Given the description of an element on the screen output the (x, y) to click on. 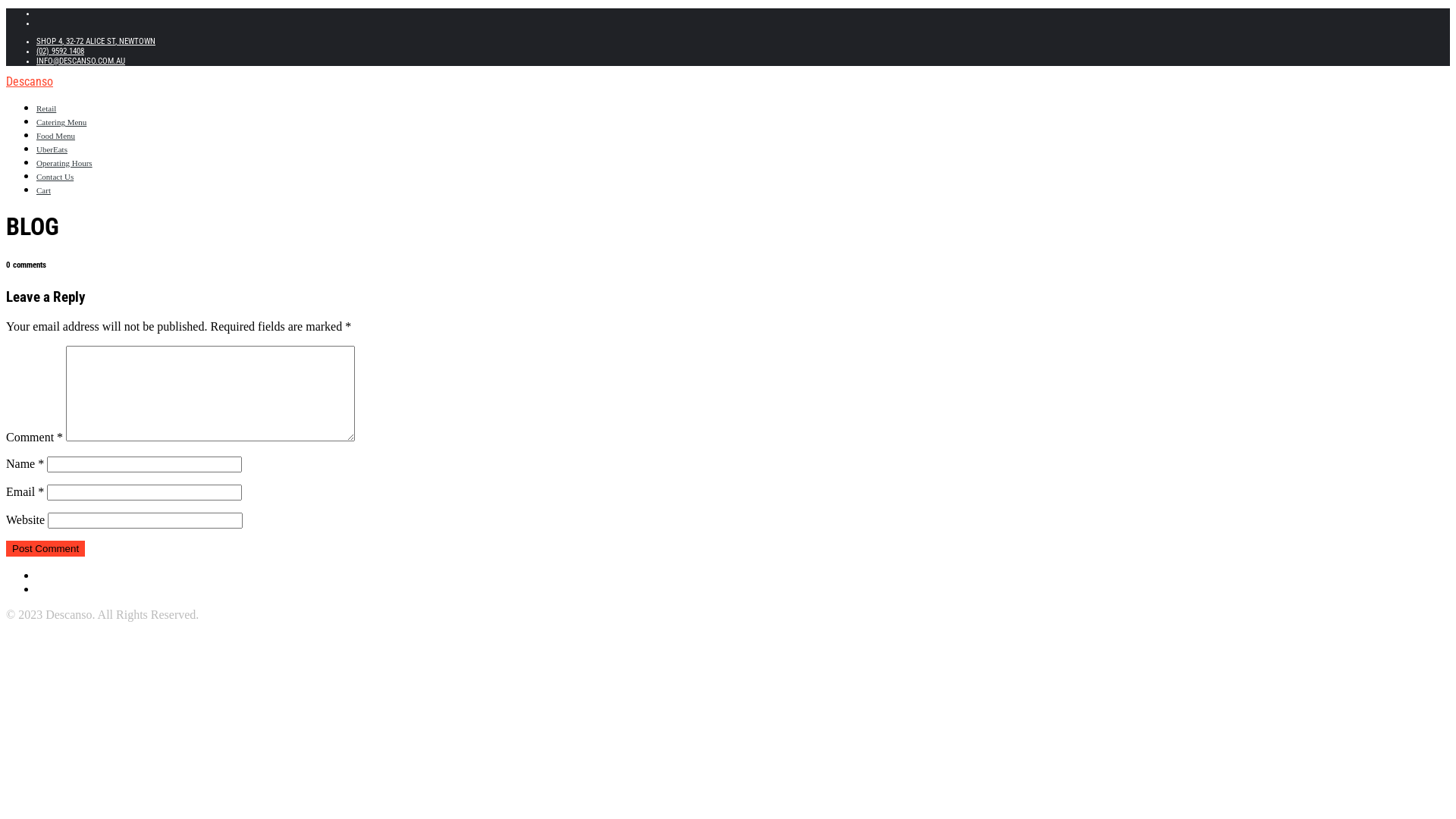
UberEats Element type: text (51, 148)
(02) 9592 1408 Element type: text (60, 51)
INFO@DESCANSO.COM.AU Element type: text (80, 60)
Cart Element type: text (43, 189)
Contact Us Element type: text (54, 176)
Descanso Element type: text (29, 81)
Food Menu Element type: text (55, 135)
Post Comment Element type: text (45, 548)
Retail Element type: text (46, 107)
Catering Menu Element type: text (61, 121)
Operating Hours Element type: text (64, 162)
SHOP 4, 32-72 ALICE ST, NEWTOWN Element type: text (95, 41)
